Given the description of an element on the screen output the (x, y) to click on. 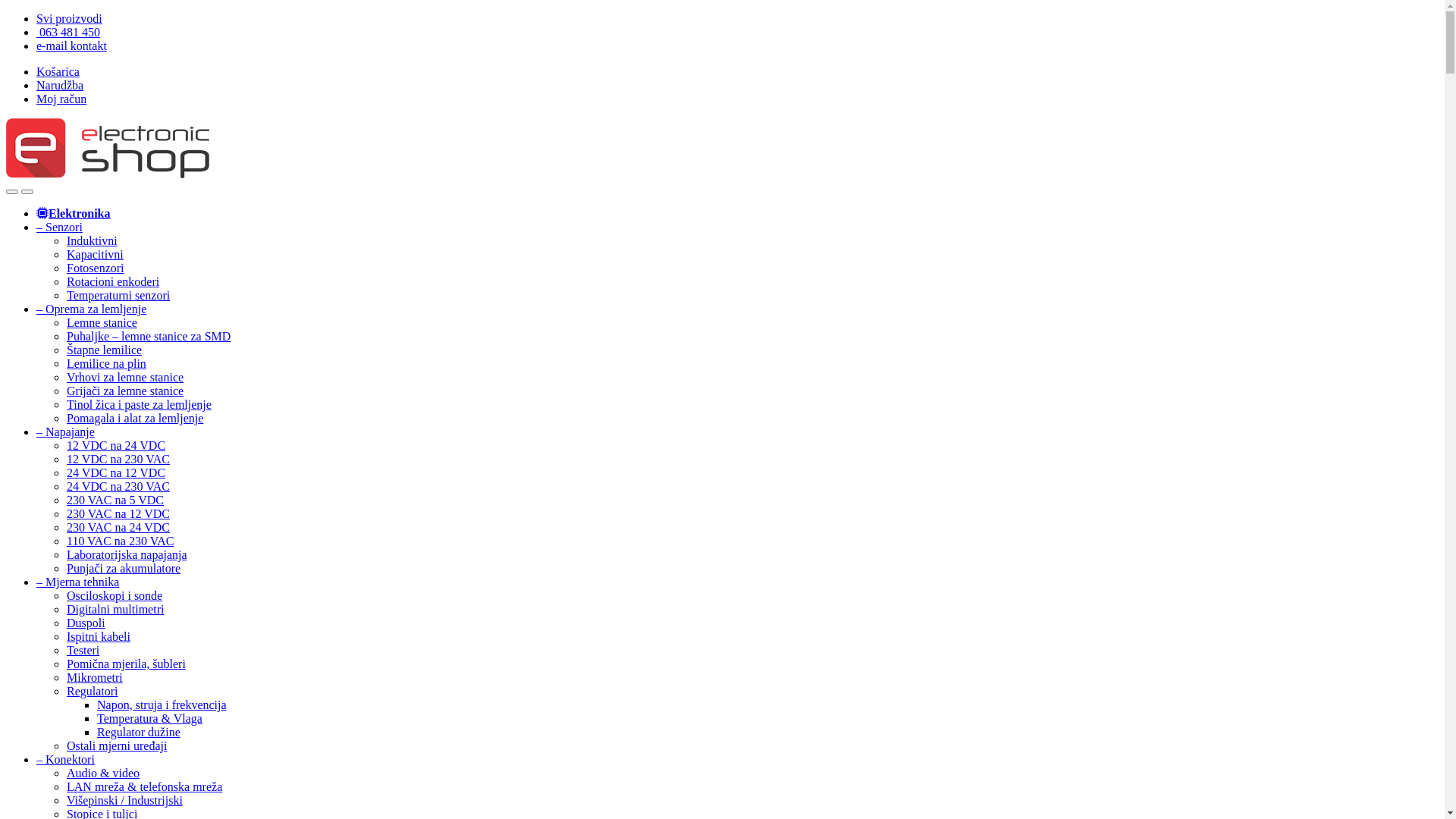
12 VDC na 24 VDC Element type: text (115, 445)
Temperatura & Vlaga Element type: text (149, 718)
Fotosenzori Element type: text (95, 267)
230 VAC na 12 VDC Element type: text (117, 513)
Osciloskopi i sonde Element type: text (114, 595)
Ispitni kabeli Element type: text (98, 636)
Mikrometri Element type: text (94, 677)
Lemne stanice Element type: text (101, 322)
e-mail kontakt Element type: text (71, 45)
Regulatori Element type: text (92, 690)
Rotacioni enkoderi Element type: text (112, 281)
Duspoli Element type: text (85, 622)
Lemilice na plin Element type: text (106, 363)
Elektronika Element type: text (73, 213)
24 VDC na 230 VAC Element type: text (117, 486)
Audio & video Element type: text (102, 772)
Digitalni multimetri Element type: text (114, 608)
24 VDC na 12 VDC Element type: text (115, 472)
Pomagala i alat za lemljenje Element type: text (134, 417)
110 VAC na 230 VAC Element type: text (119, 540)
Laboratorijska napajanja Element type: text (126, 554)
Induktivni Element type: text (91, 240)
Napon, struja i frekvencija Element type: text (161, 704)
230 VAC na 24 VDC Element type: text (117, 526)
230 VAC na 5 VDC Element type: text (114, 499)
Svi proizvodi Element type: text (69, 18)
Skip to navigation Element type: text (5, 11)
Kapacitivni Element type: text (94, 253)
Testeri Element type: text (82, 649)
12 VDC na 230 VAC Element type: text (117, 458)
Temperaturni senzori Element type: text (117, 294)
Vrhovi za lemne stanice Element type: text (124, 376)
 063 481 450 Element type: text (68, 31)
